Given the description of an element on the screen output the (x, y) to click on. 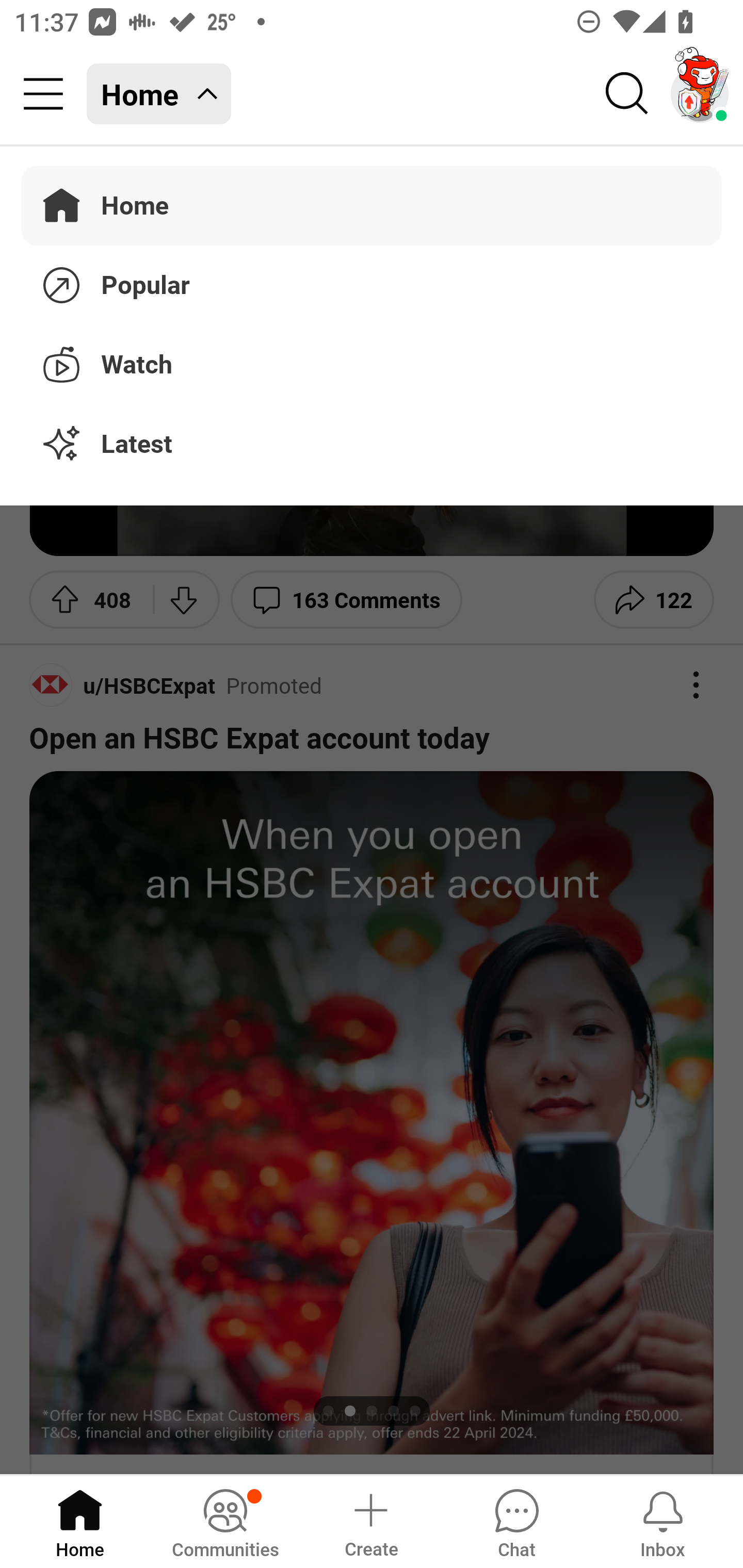
Community menu (43, 93)
Home Home feed (158, 93)
Search (626, 93)
TestAppium002 account (699, 93)
Popular Popular feed (371, 281)
Watch Watch feed (371, 361)
Latest Latest feed (371, 444)
Home (80, 1520)
Communities, has notifications Communities (225, 1520)
Create a post Create (370, 1520)
Chat (516, 1520)
Inbox (662, 1520)
